Given the description of an element on the screen output the (x, y) to click on. 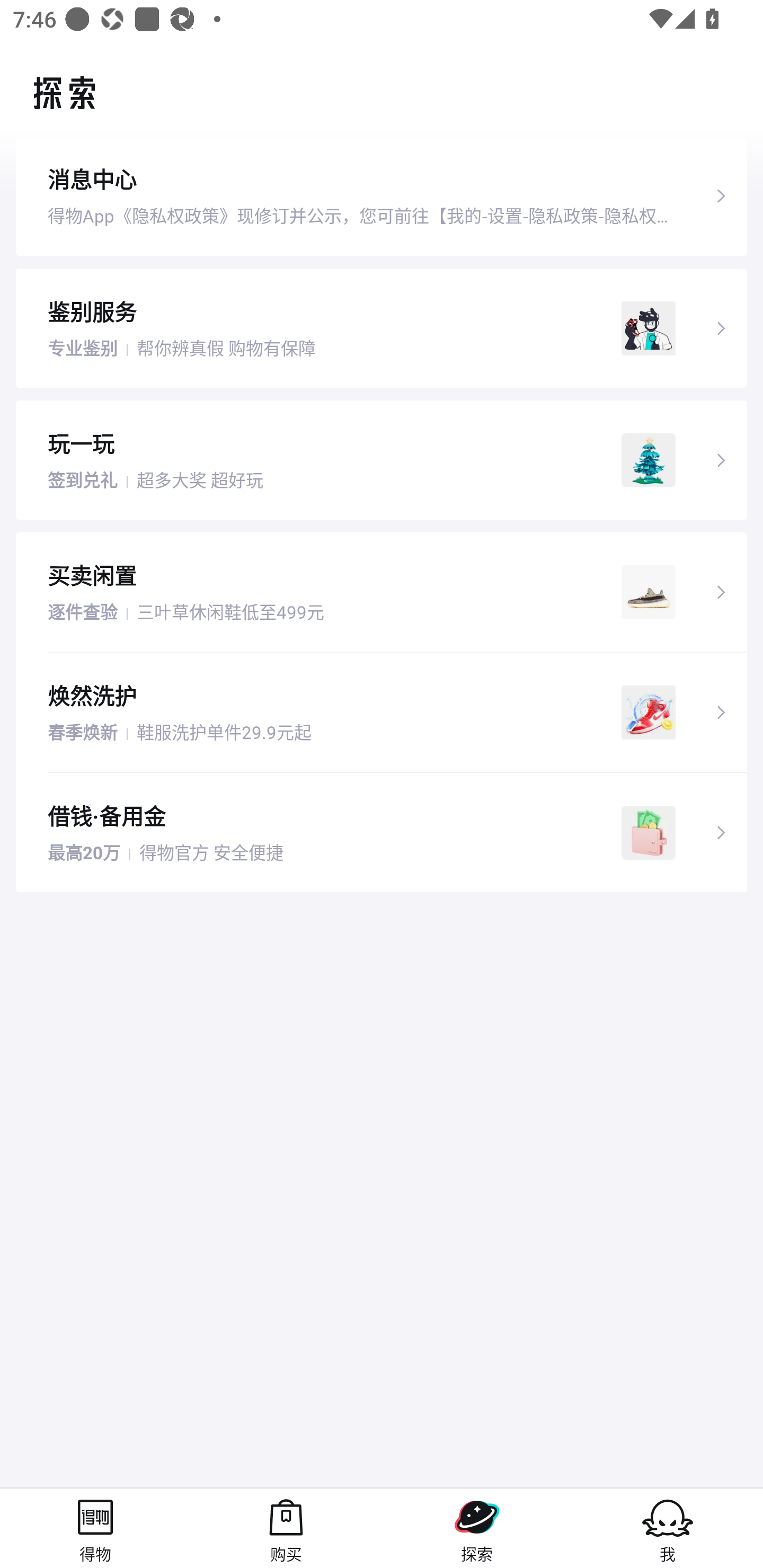
鉴别服务 专业鉴别 丨 帮你辨真假 购物有保障 (381, 327)
玩一玩 签到兑礼 丨 超多大奖 超好玩 (381, 459)
买卖闲置 逐件查验 丨 三叶草休闲鞋低至499元 (381, 592)
焕然洗护 春季焕新 丨 鞋服洗护单件29.9元起 (381, 711)
借钱·备用金 最高20万 丨 得物官方 安全便捷 (381, 832)
得物 (95, 1528)
购买 (285, 1528)
探索 (476, 1528)
我 (667, 1528)
